Given the description of an element on the screen output the (x, y) to click on. 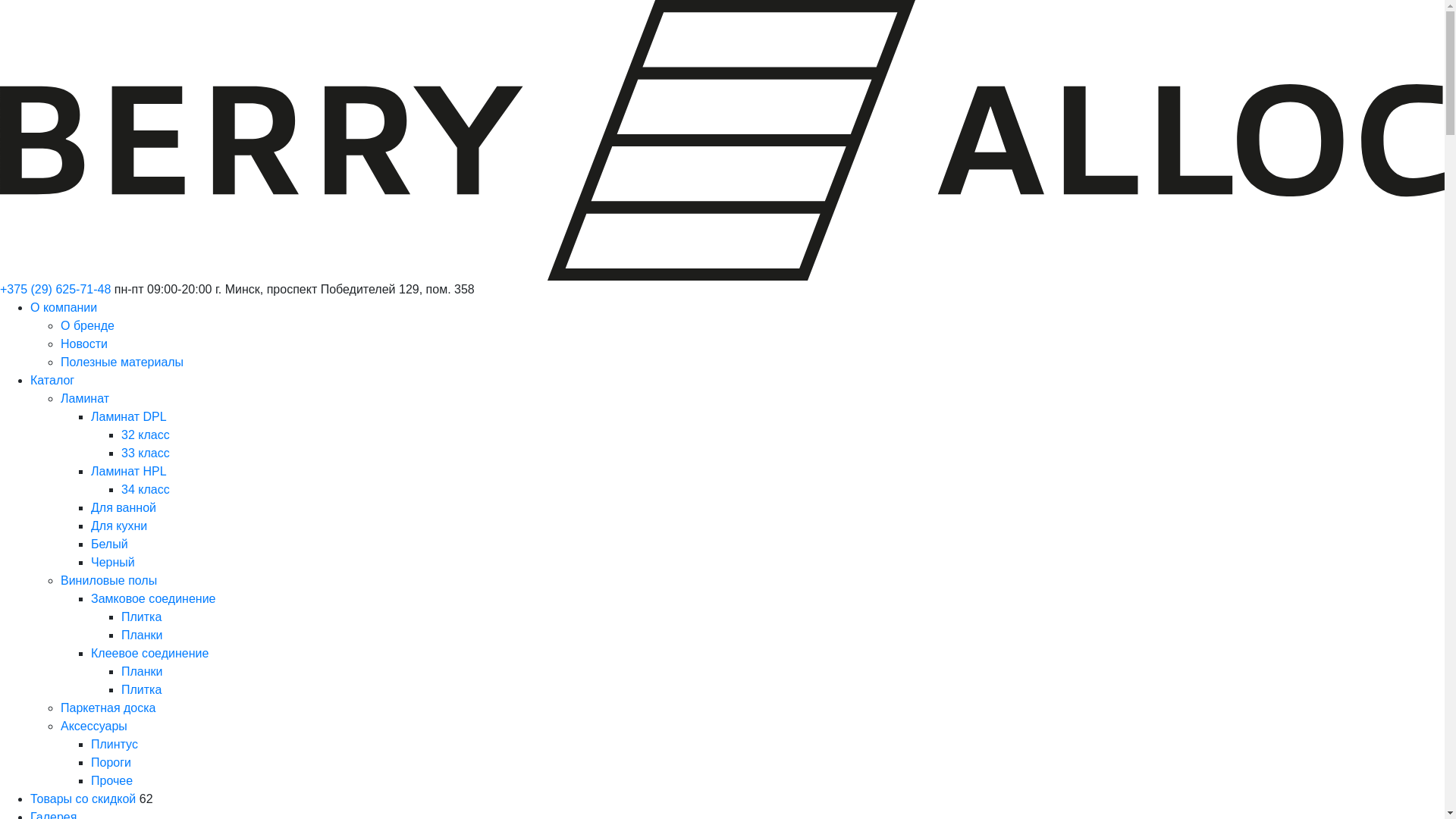
+375 (29) 625-71-48 Element type: text (55, 288)
